Given the description of an element on the screen output the (x, y) to click on. 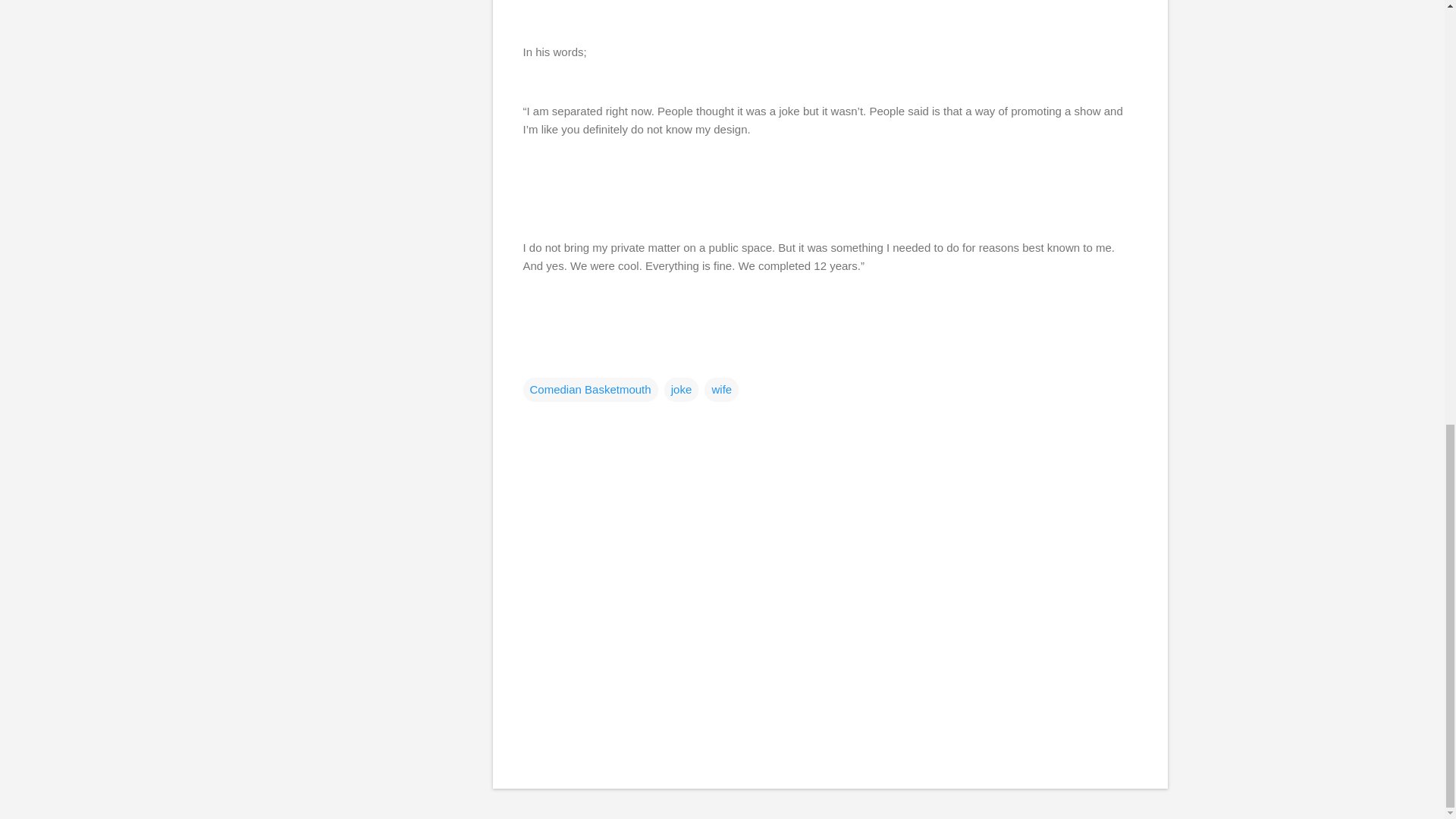
joke (680, 388)
Comedian Basketmouth (590, 388)
wife (721, 388)
